Given the description of an element on the screen output the (x, y) to click on. 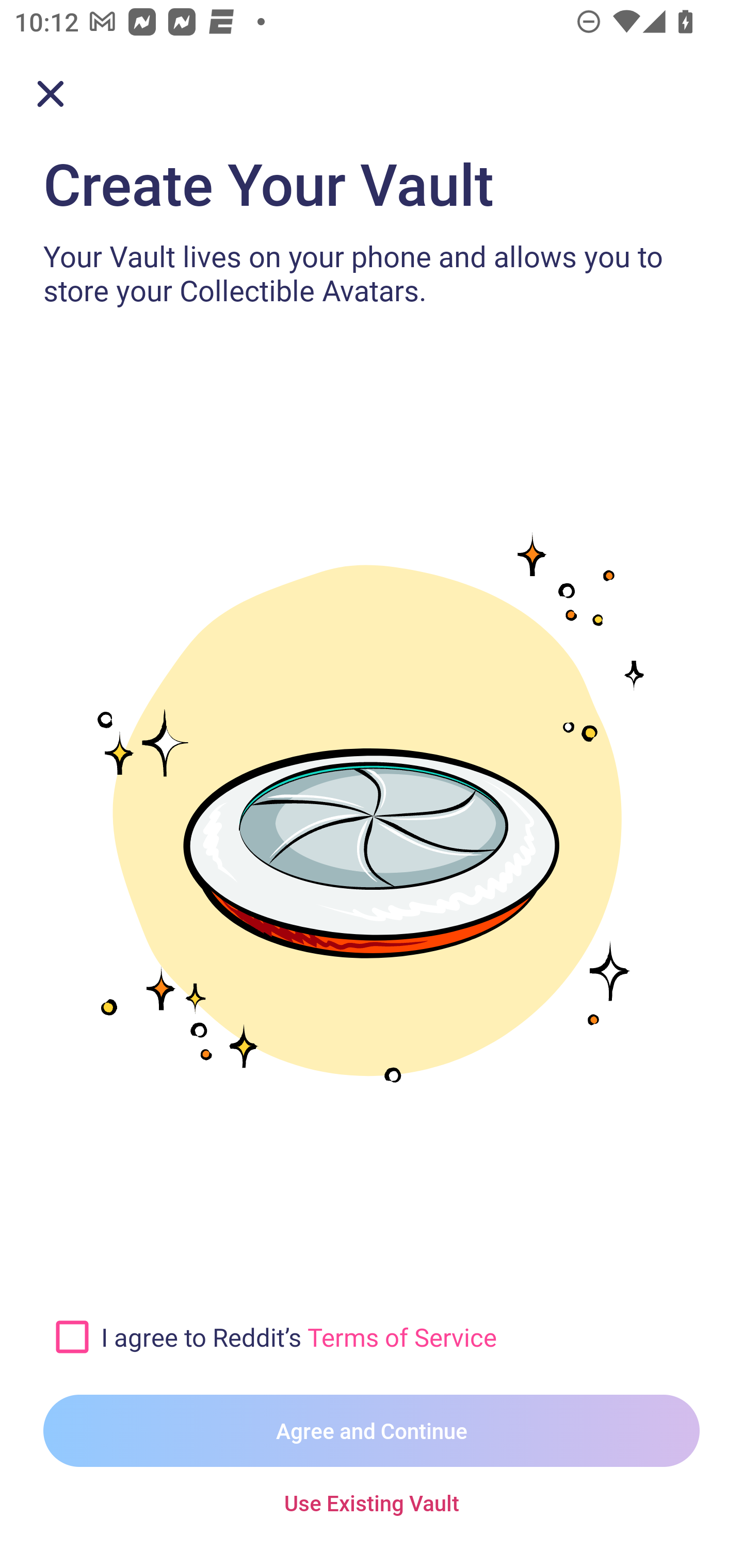
Back (50, 93)
I agree to Reddit’s Terms of Service (400, 1336)
Agree and Continue (371, 1430)
Use Existing Vault (371, 1503)
